Given the description of an element on the screen output the (x, y) to click on. 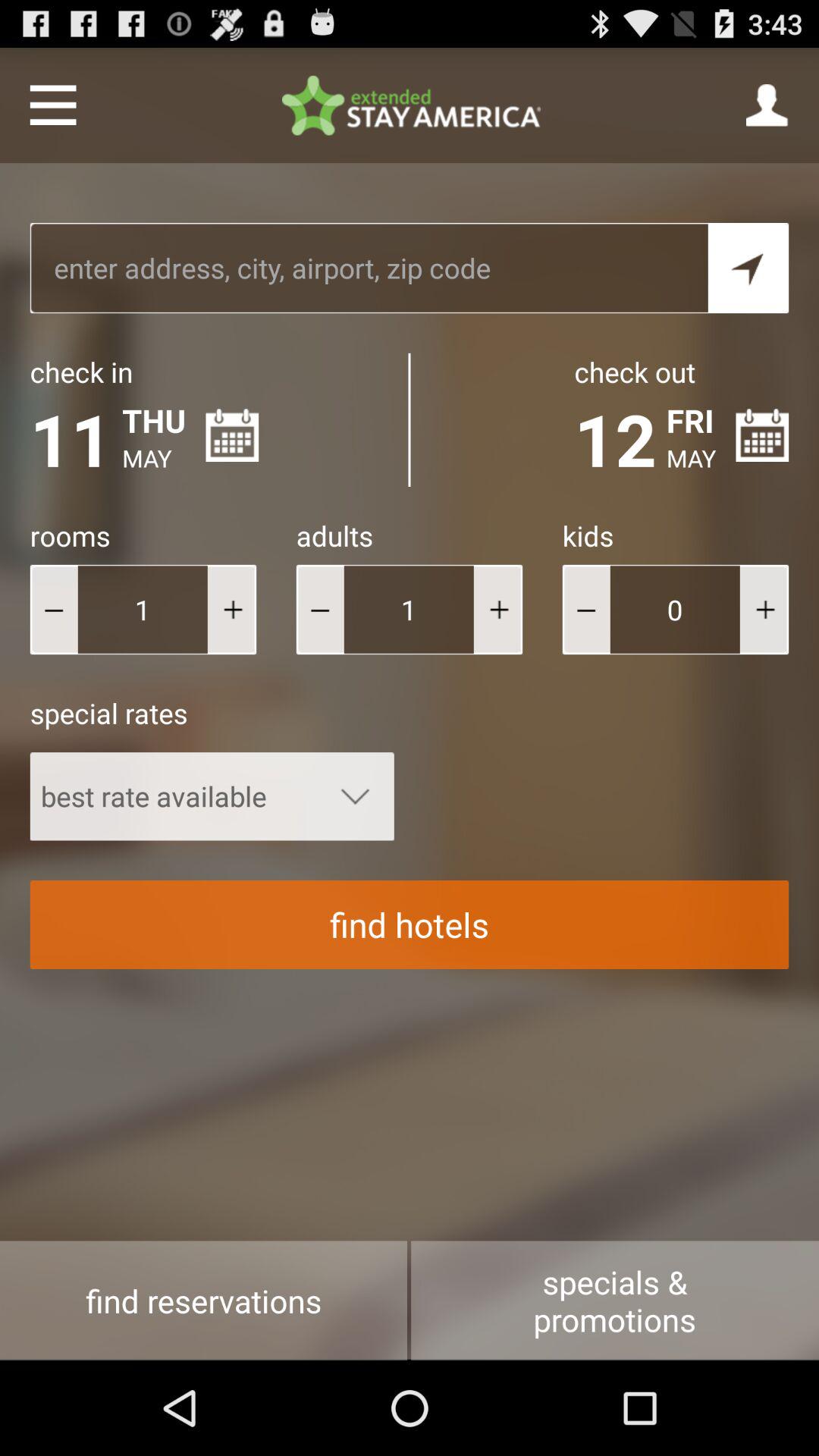
subtract adult (320, 609)
